Given the description of an element on the screen output the (x, y) to click on. 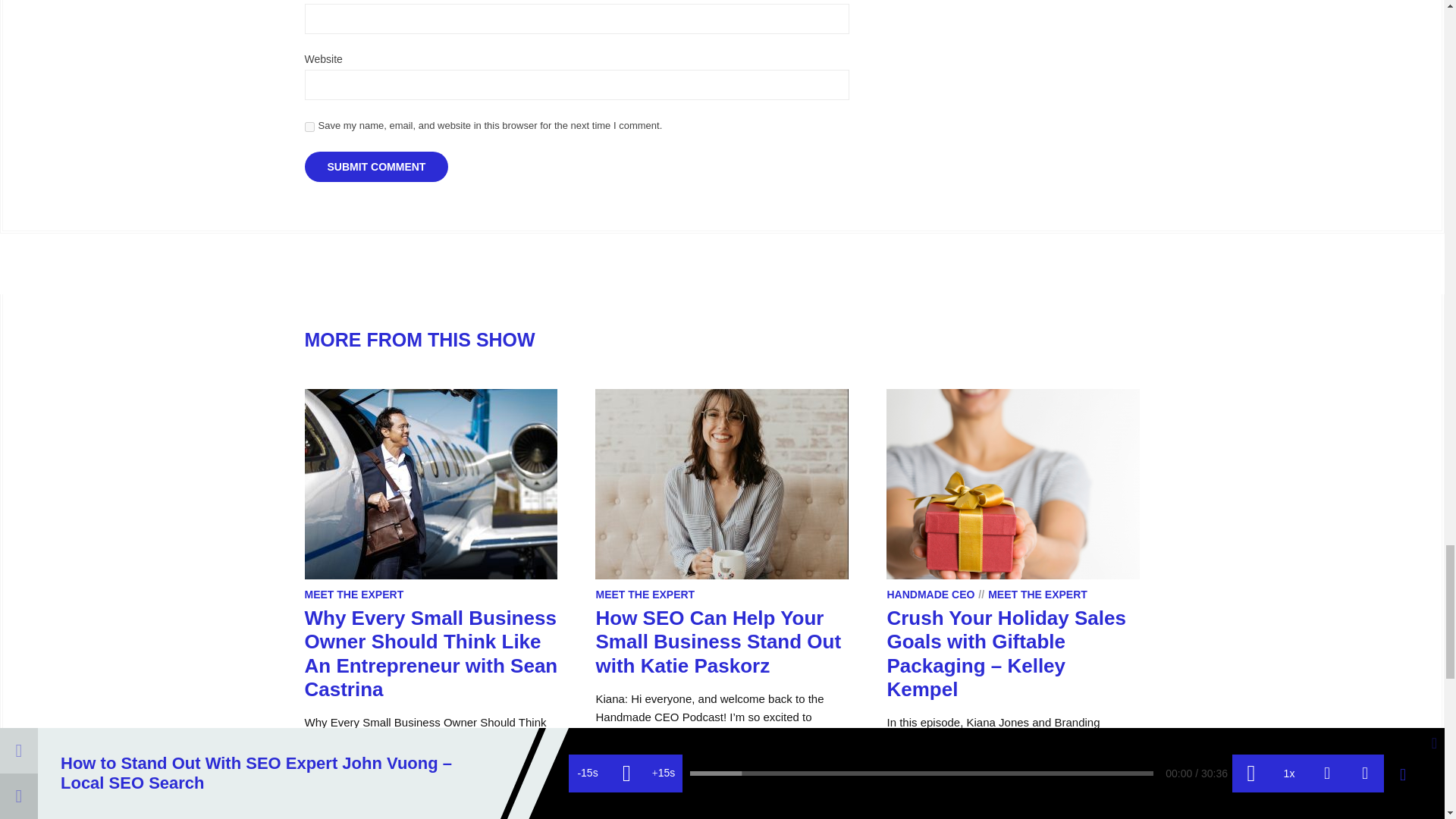
Submit Comment (376, 166)
Submit Comment (376, 166)
